Given the description of an element on the screen output the (x, y) to click on. 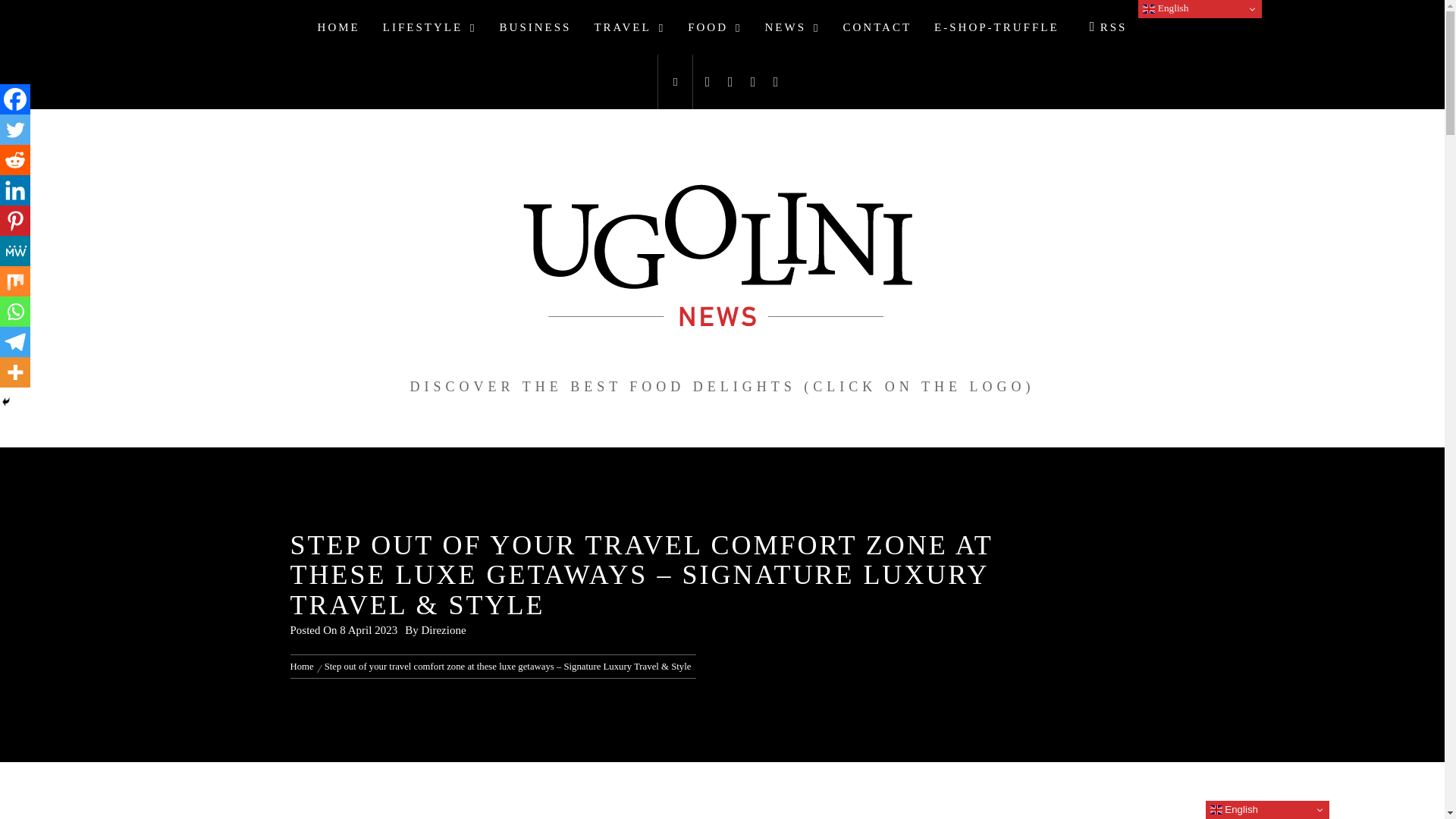
LIFESTYLE (429, 27)
INFO (1133, 24)
CONTACT (877, 27)
RSS (1104, 27)
BUSINESS (535, 27)
HOME (338, 27)
E-SHOP-TRUFFLE (996, 27)
FOOD (714, 27)
ACCETTA (1076, 24)
NEWS (791, 27)
